Given the description of an element on the screen output the (x, y) to click on. 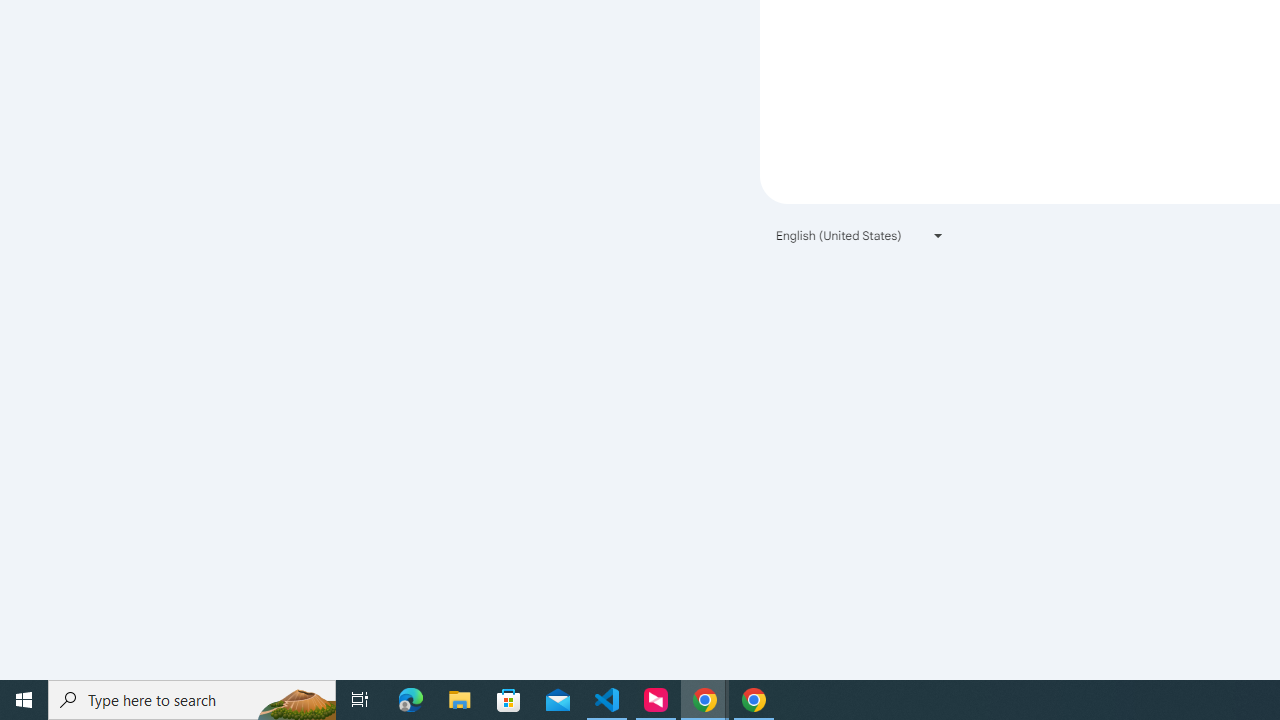
English (United States) (860, 234)
